Given the description of an element on the screen output the (x, y) to click on. 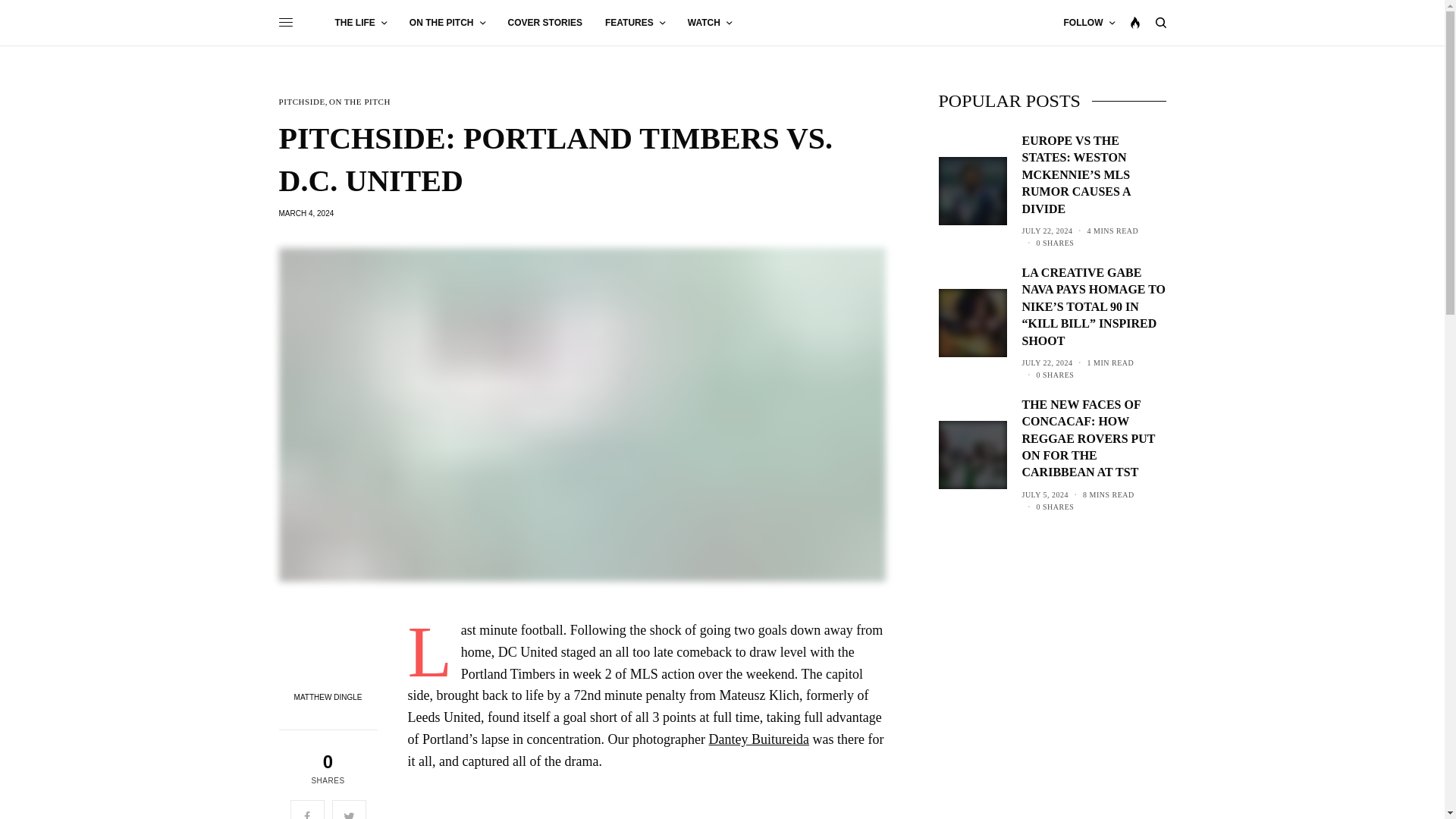
ON THE PITCH (446, 22)
THE LIFE (360, 22)
